Given the description of an element on the screen output the (x, y) to click on. 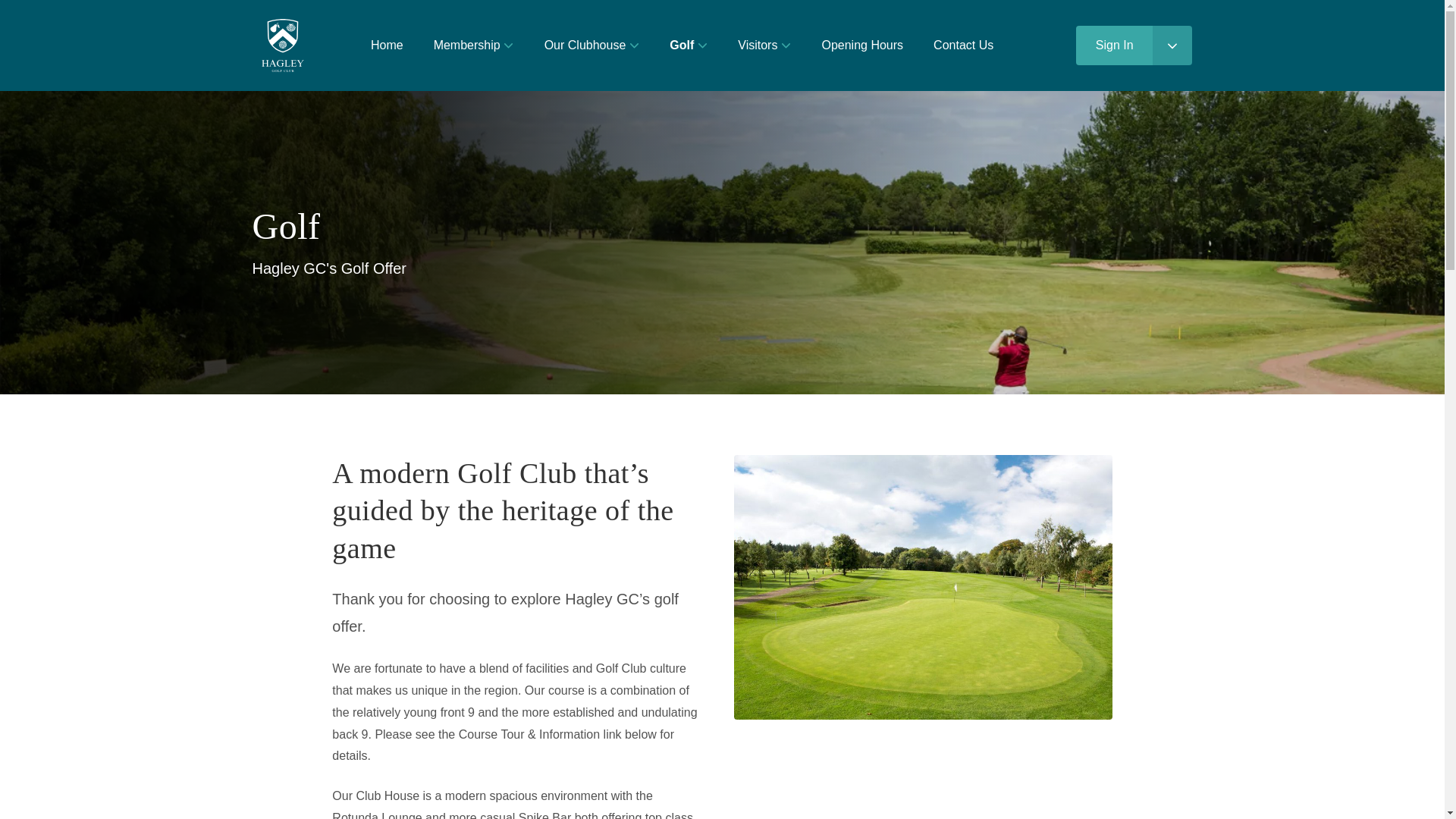
Our Clubhouse (592, 45)
Home (387, 45)
Golf (687, 45)
Membership (474, 45)
Contact Us (963, 45)
Opening Hours (862, 45)
Visitors (764, 45)
